Given the description of an element on the screen output the (x, y) to click on. 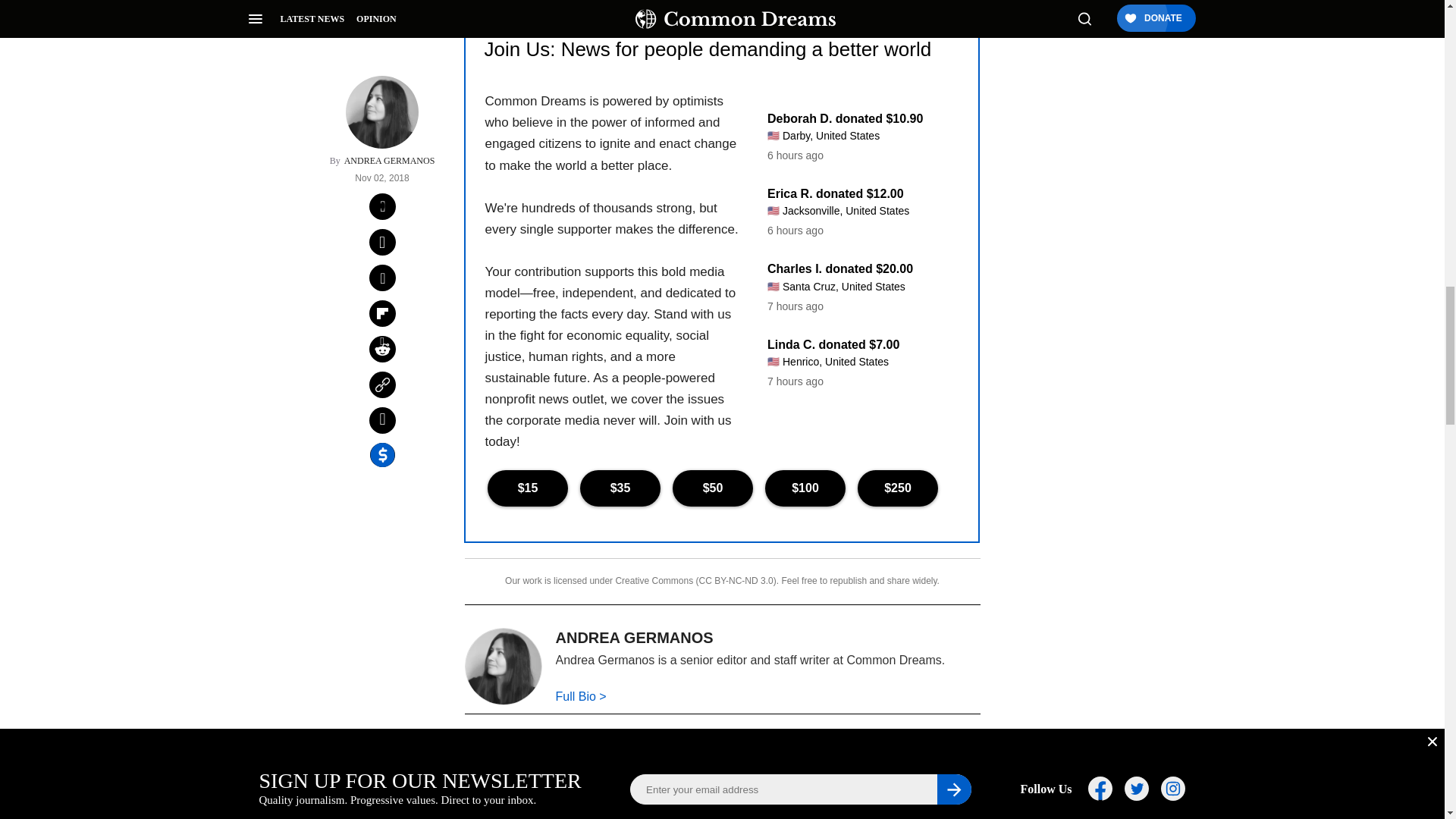
Donate Button Group (721, 488)
